Given the description of an element on the screen output the (x, y) to click on. 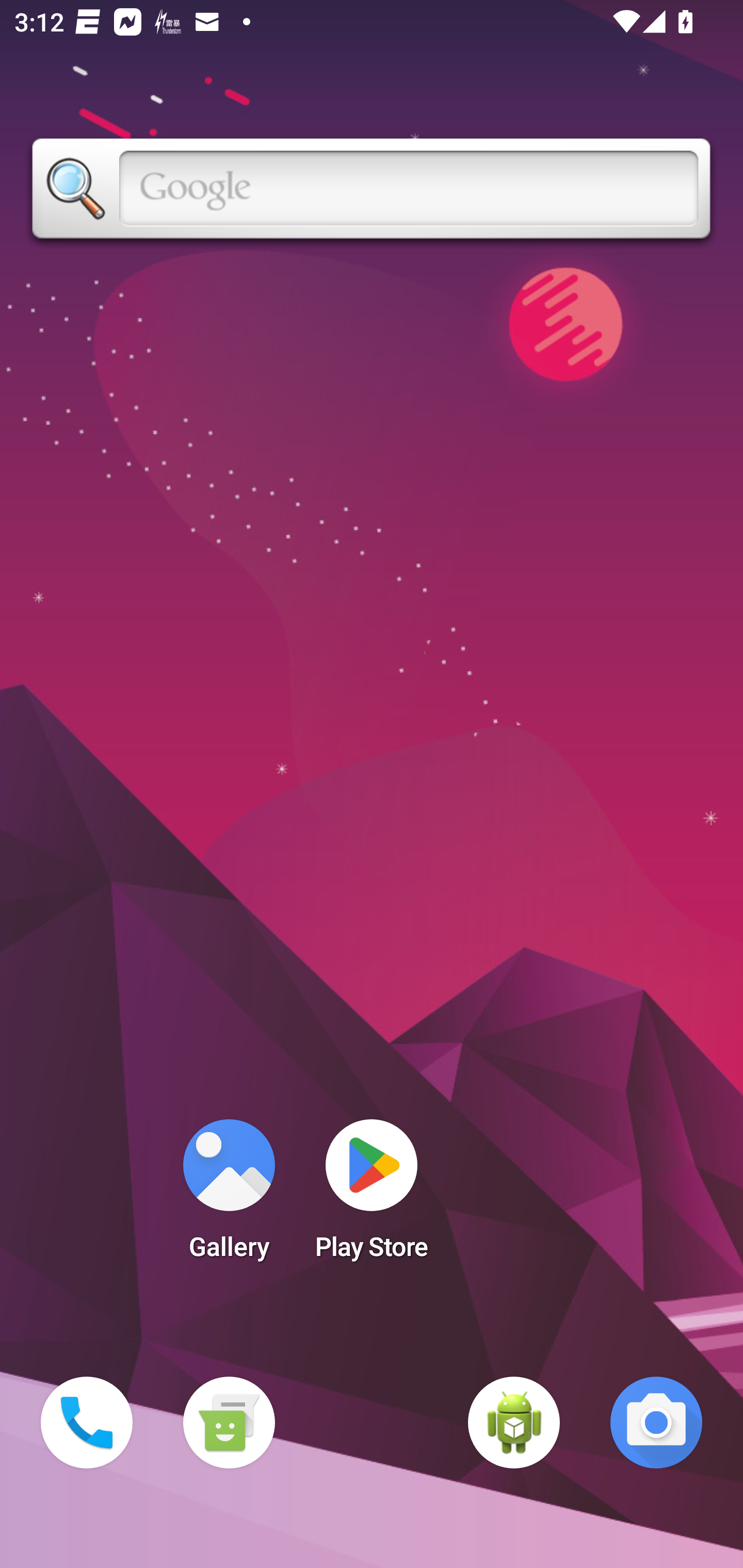
Gallery (228, 1195)
Play Store (371, 1195)
Phone (86, 1422)
Messaging (228, 1422)
WebView Browser Tester (513, 1422)
Camera (656, 1422)
